Given the description of an element on the screen output the (x, y) to click on. 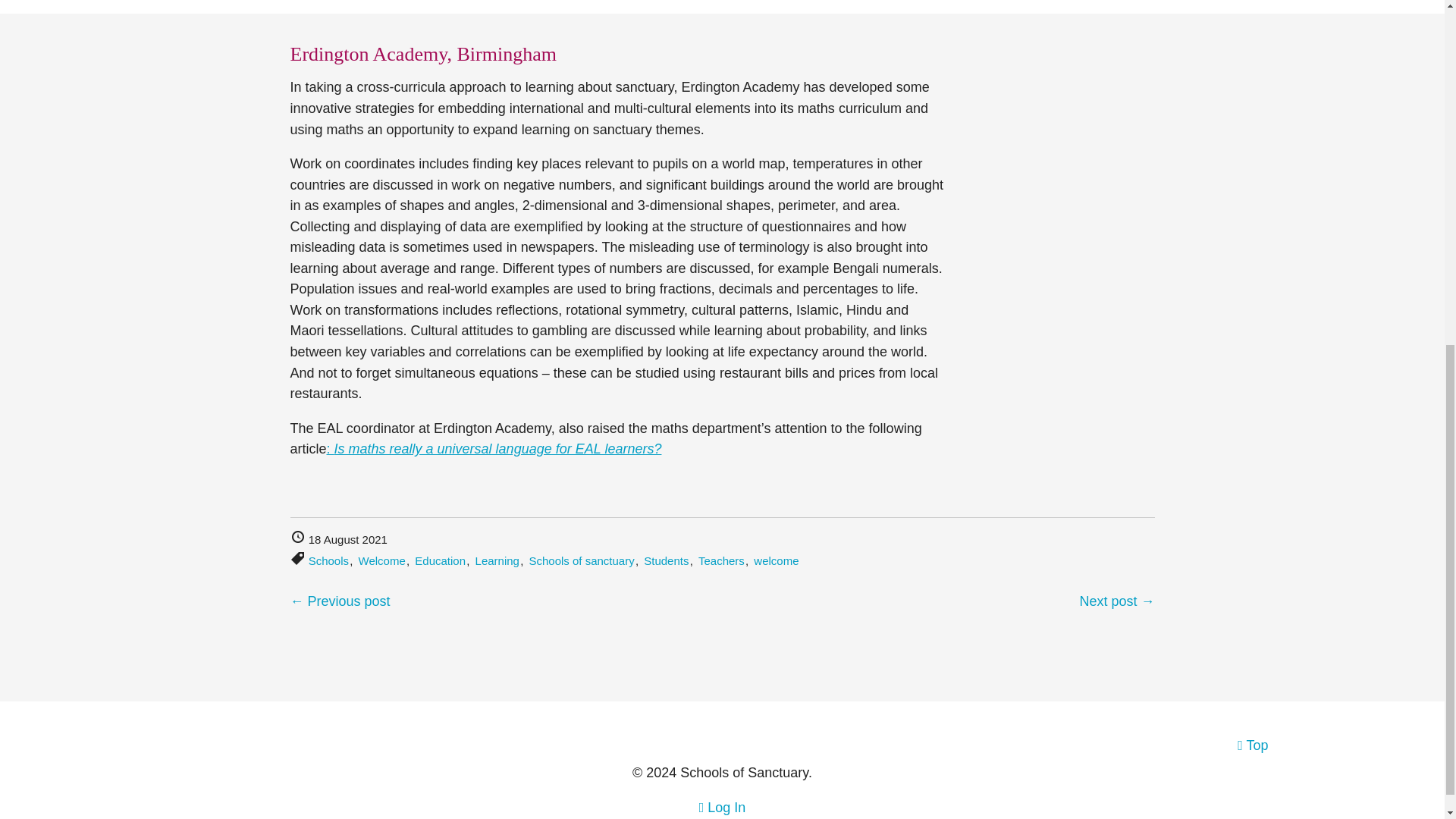
Published at 8:21am on 18 August 2021 (338, 539)
